Given the description of an element on the screen output the (x, y) to click on. 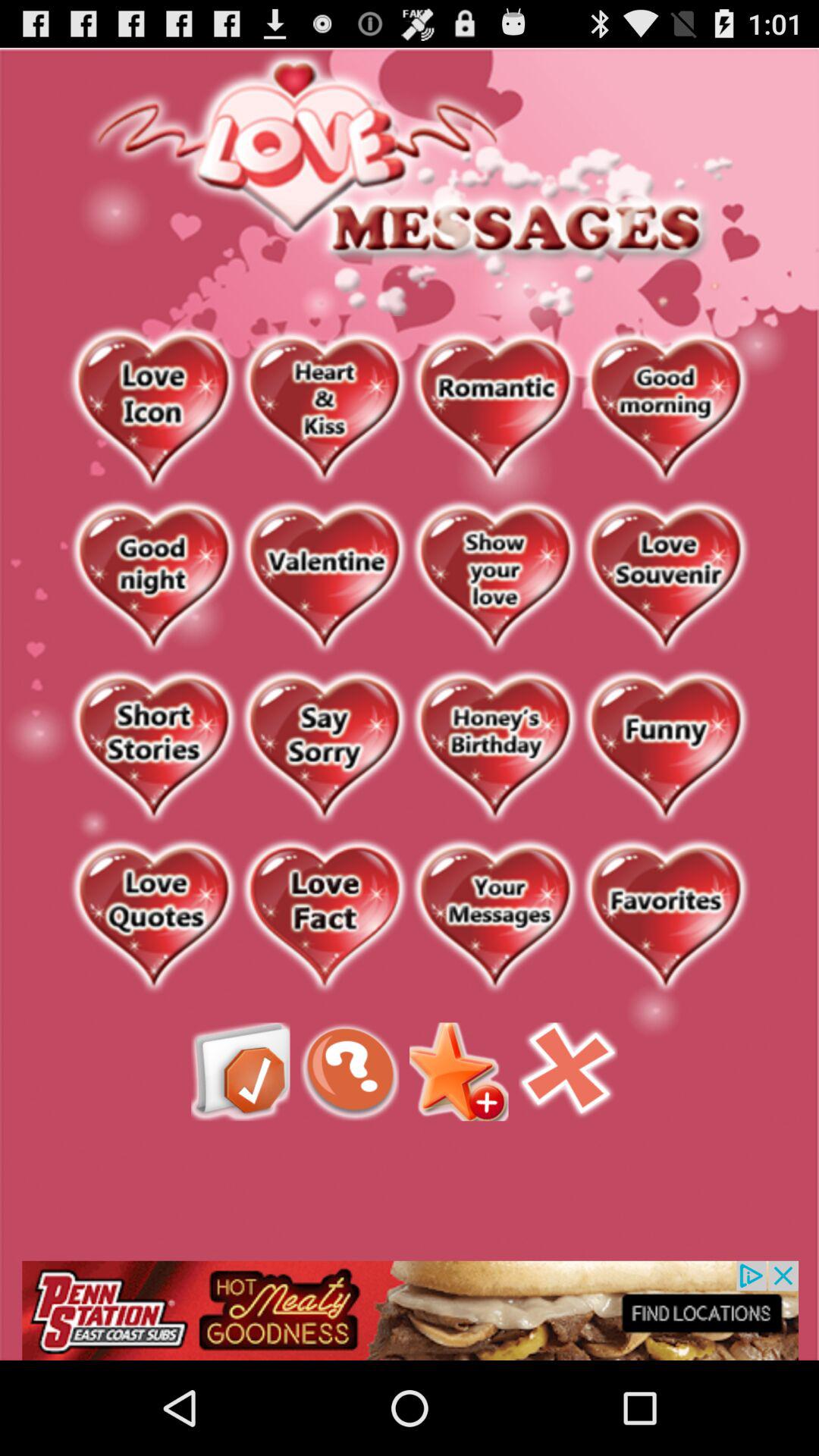
select short stories (153, 747)
